Given the description of an element on the screen output the (x, y) to click on. 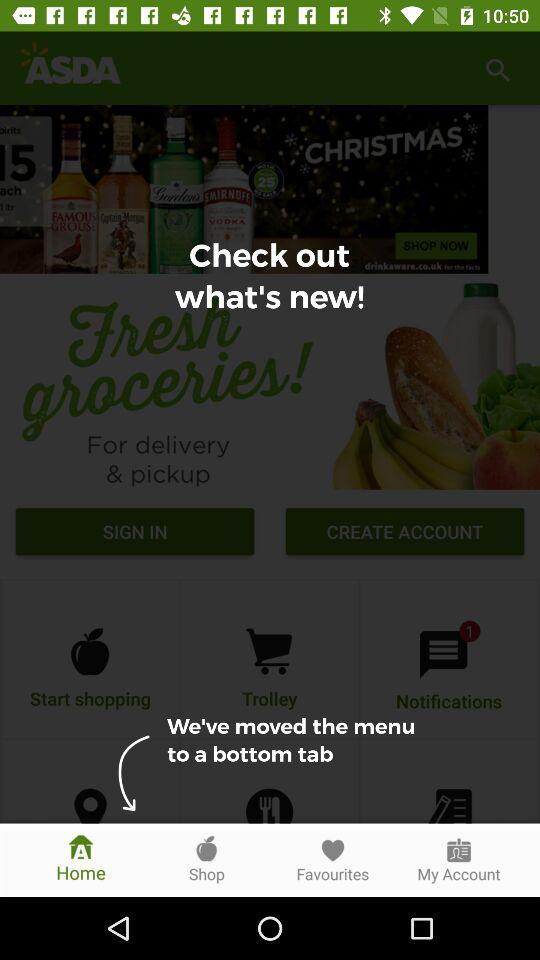
open the item to the right of sign in (404, 534)
